Given the description of an element on the screen output the (x, y) to click on. 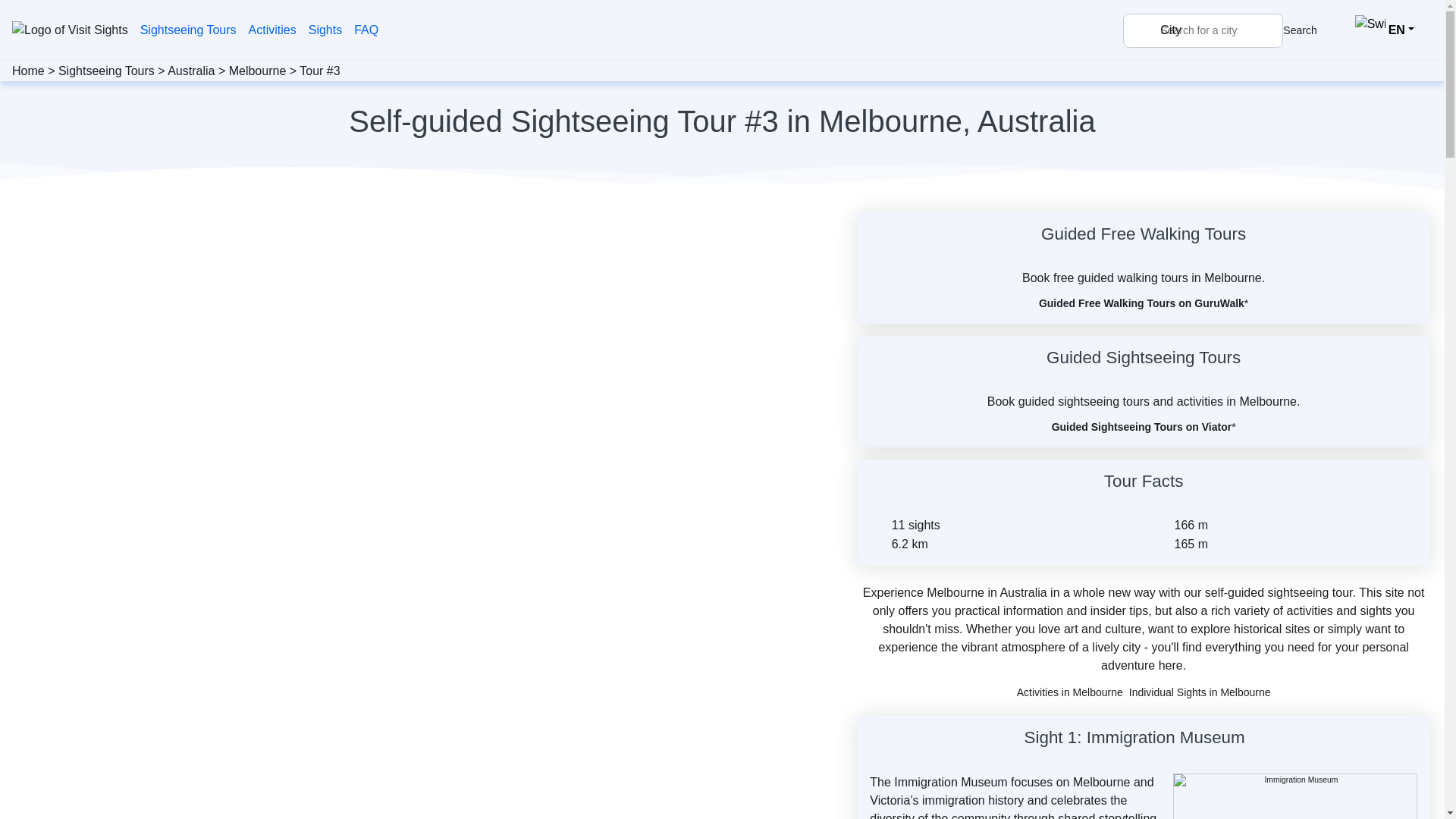
EN (1384, 29)
Distance (878, 544)
Switch language (1384, 29)
Descend (1161, 544)
Activities in Melbourne (1069, 692)
Home (28, 70)
Activities (272, 30)
Sights (325, 30)
Individual Sights in Melbourne (1200, 692)
Sightseeing Tours (106, 70)
